Given the description of an element on the screen output the (x, y) to click on. 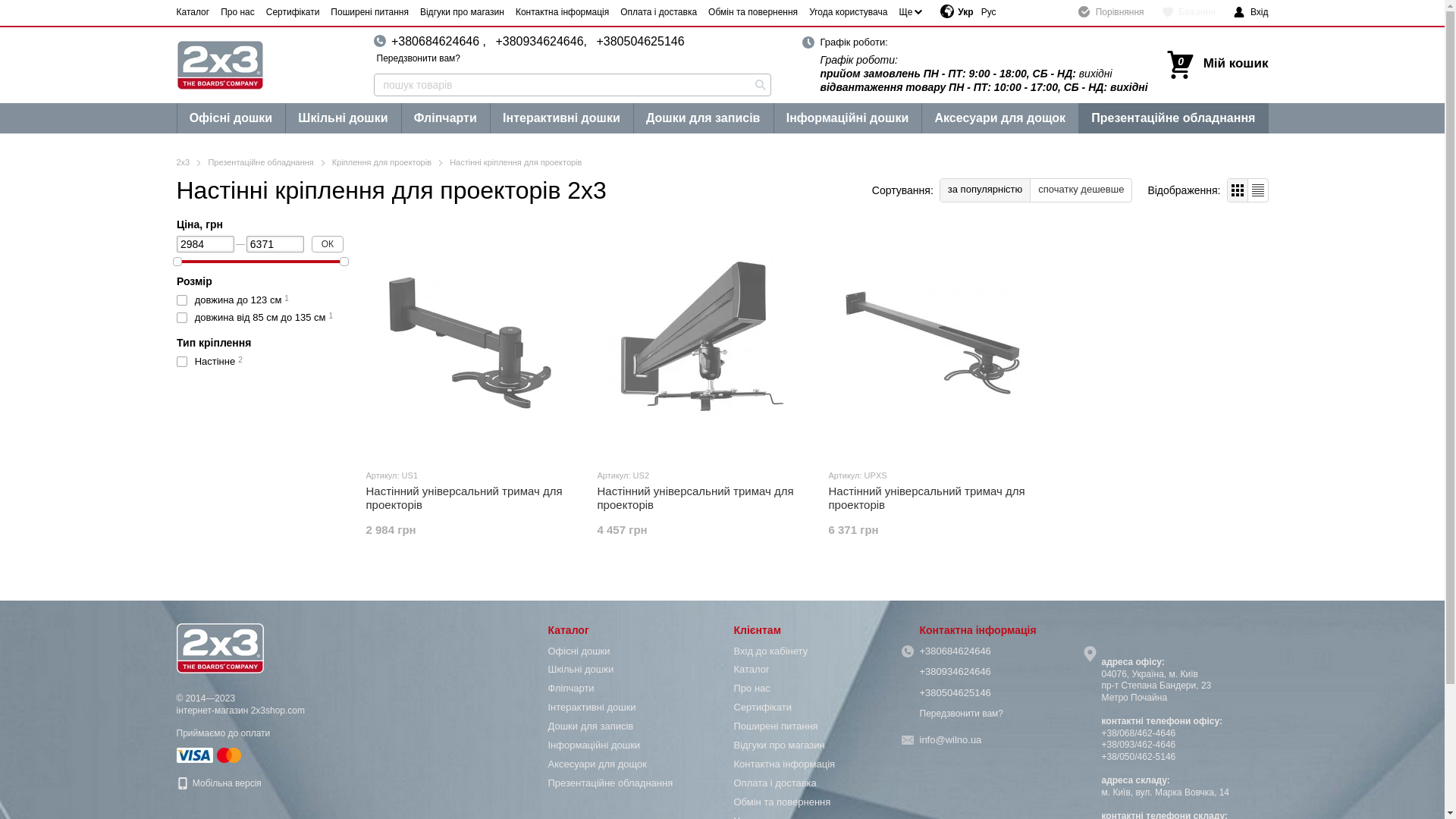
+380684624646 Element type: text (954, 650)
2x3 Element type: text (182, 161)
+380684624646 , Element type: text (438, 40)
+380934624646, Element type: text (540, 40)
+380934624646 Element type: text (954, 671)
+380504625146 Element type: text (954, 692)
+380504625146 Element type: text (640, 40)
info@wilno.ua Element type: text (950, 739)
